Given the description of an element on the screen output the (x, y) to click on. 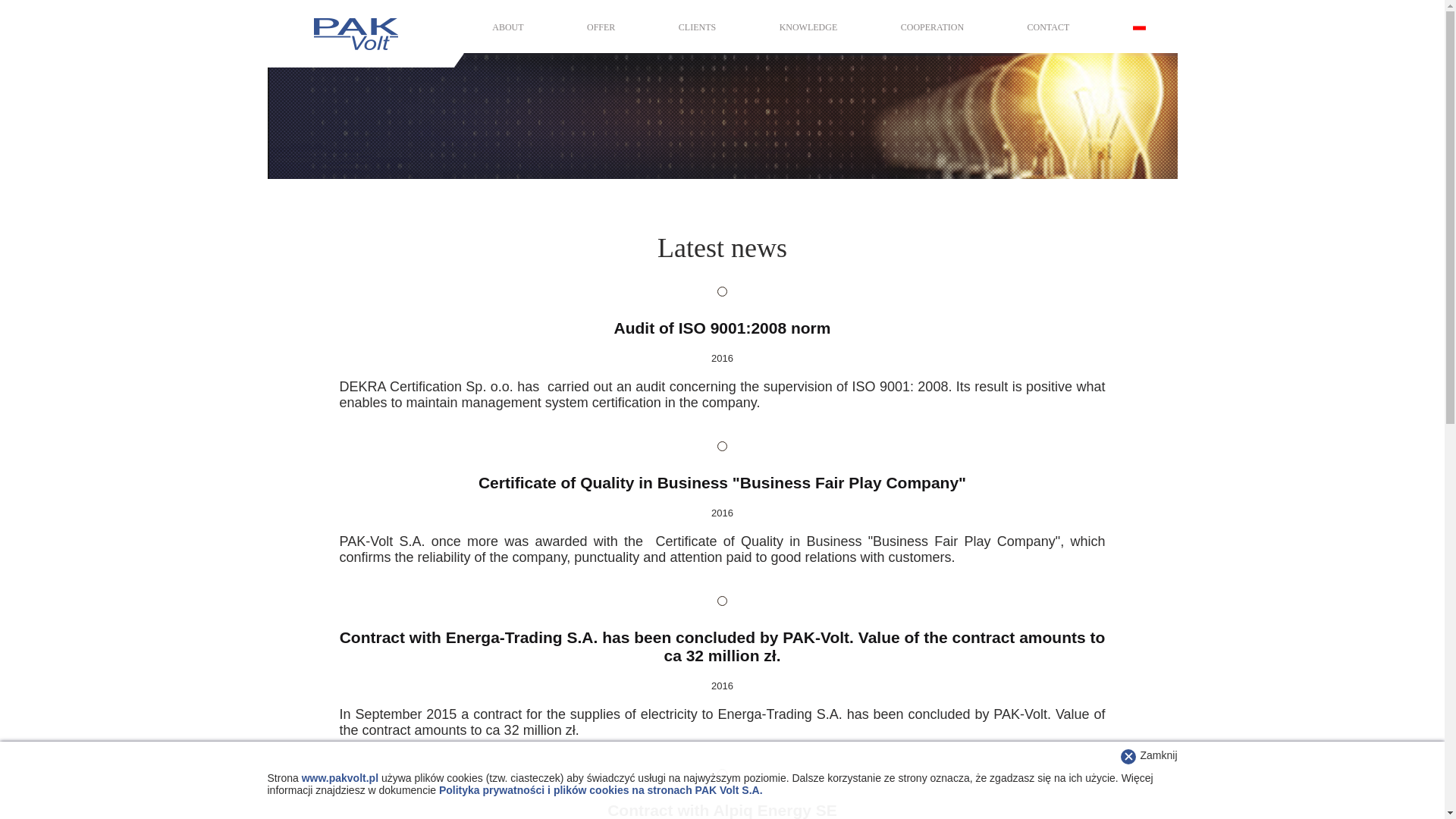
KNOWLEDGE (808, 27)
CONTACT (1048, 27)
OFFER (600, 27)
CLIENTS (697, 27)
www.pakvolt.pl (339, 777)
Zamknij (1158, 755)
COOPERATION (932, 27)
ABOUT (507, 27)
